Given the description of an element on the screen output the (x, y) to click on. 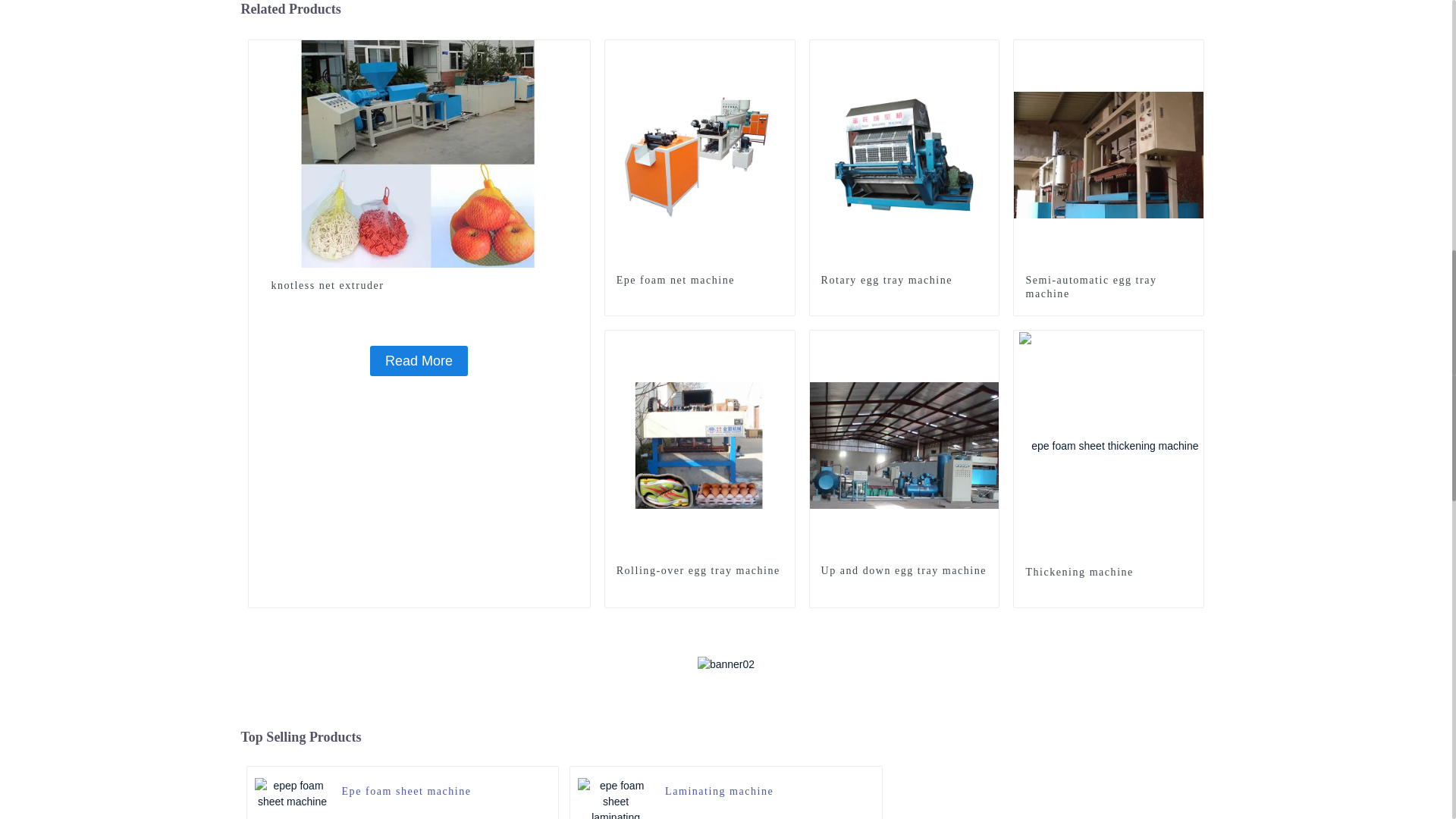
Epe foam net machine (699, 280)
Rotary egg tray machine (903, 153)
semi-automatic egg tray forming machine1 (1192, 51)
knotless net extruder (418, 285)
Semi-automatic egg tray machine (1108, 153)
rolling-over egg tray forming machine 1 (782, 341)
Read More (418, 360)
Epe foam net machine (699, 280)
Rolling-over egg tray machine (699, 444)
Knotless net extruyder (578, 51)
